Given the description of an element on the screen output the (x, y) to click on. 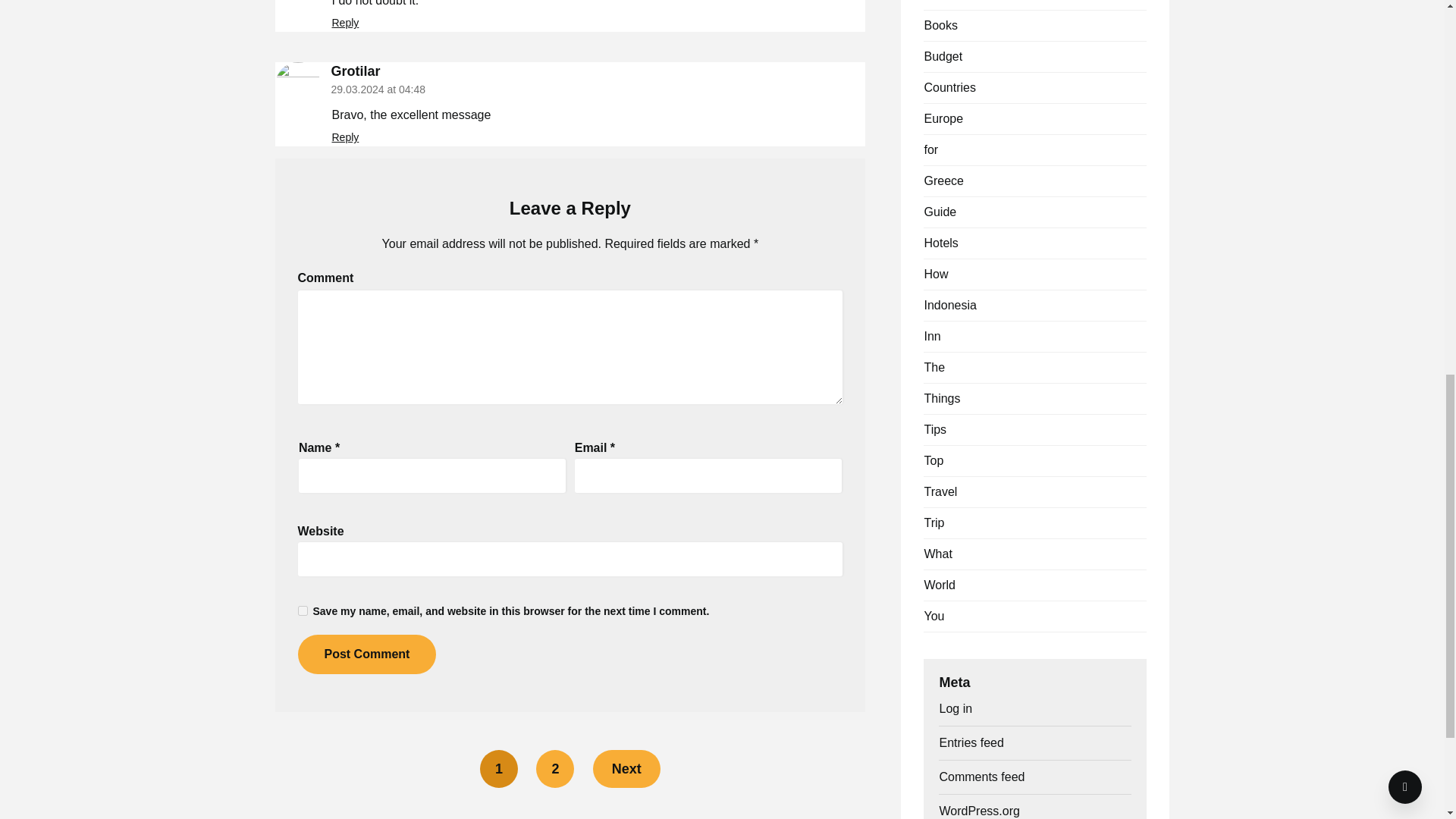
Books (939, 24)
Greece (942, 180)
Reply (345, 137)
Reply (345, 22)
Post Comment (366, 654)
Countries (949, 87)
How (935, 273)
Post Comment (366, 654)
Guide (939, 211)
Europe (942, 118)
